Given the description of an element on the screen output the (x, y) to click on. 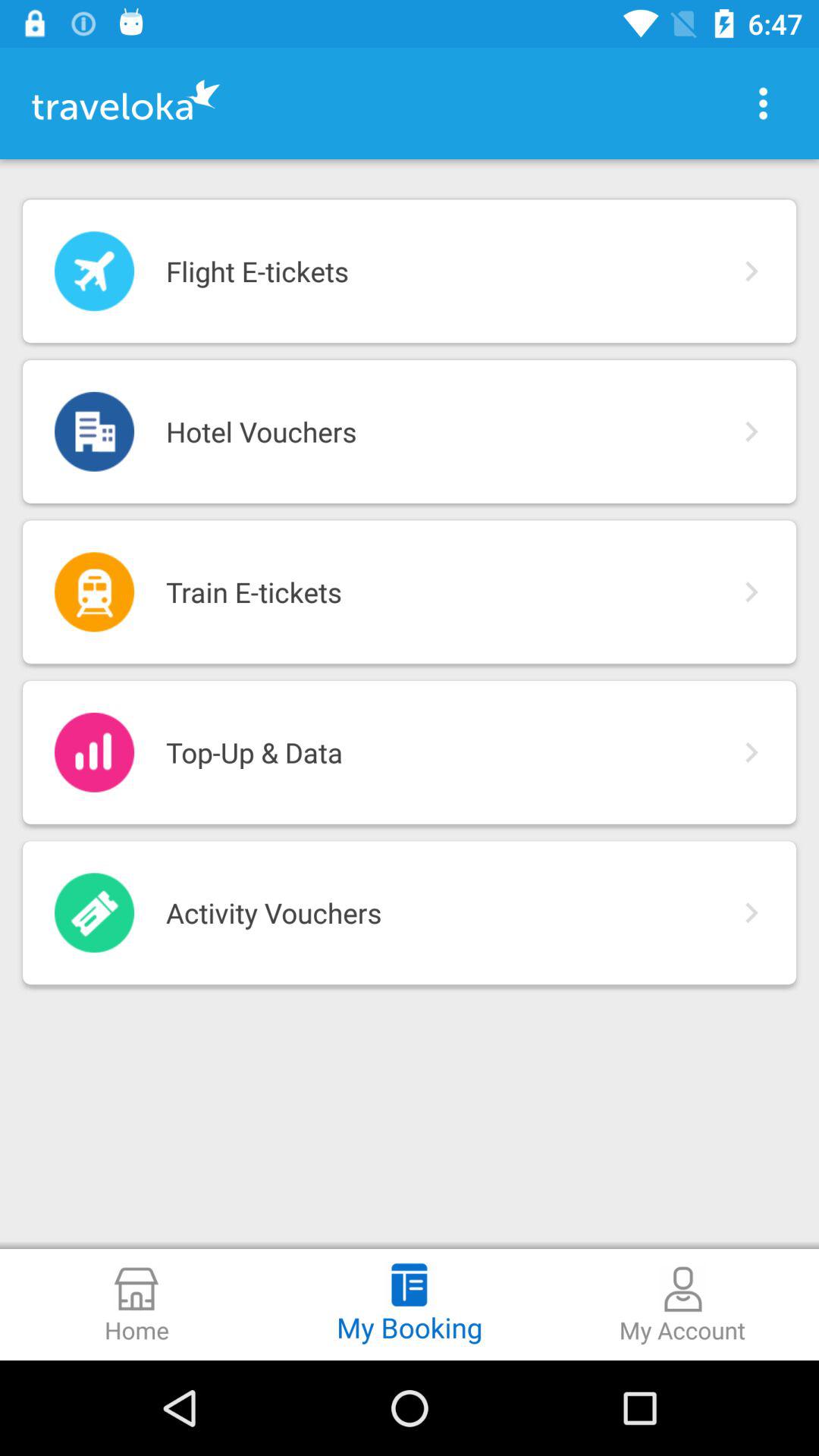
opes (763, 103)
